Given the description of an element on the screen output the (x, y) to click on. 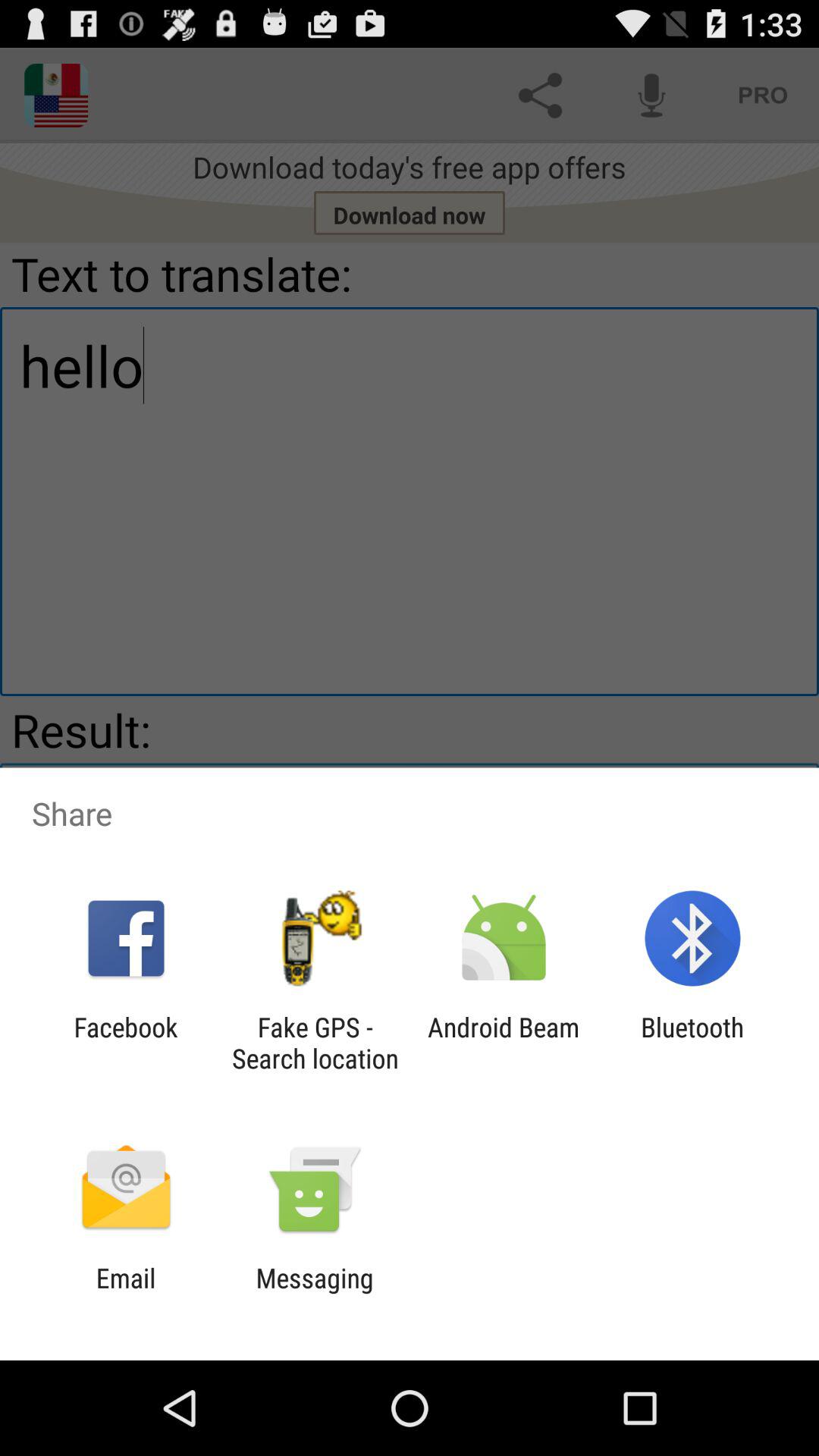
scroll to the facebook (125, 1042)
